Given the description of an element on the screen output the (x, y) to click on. 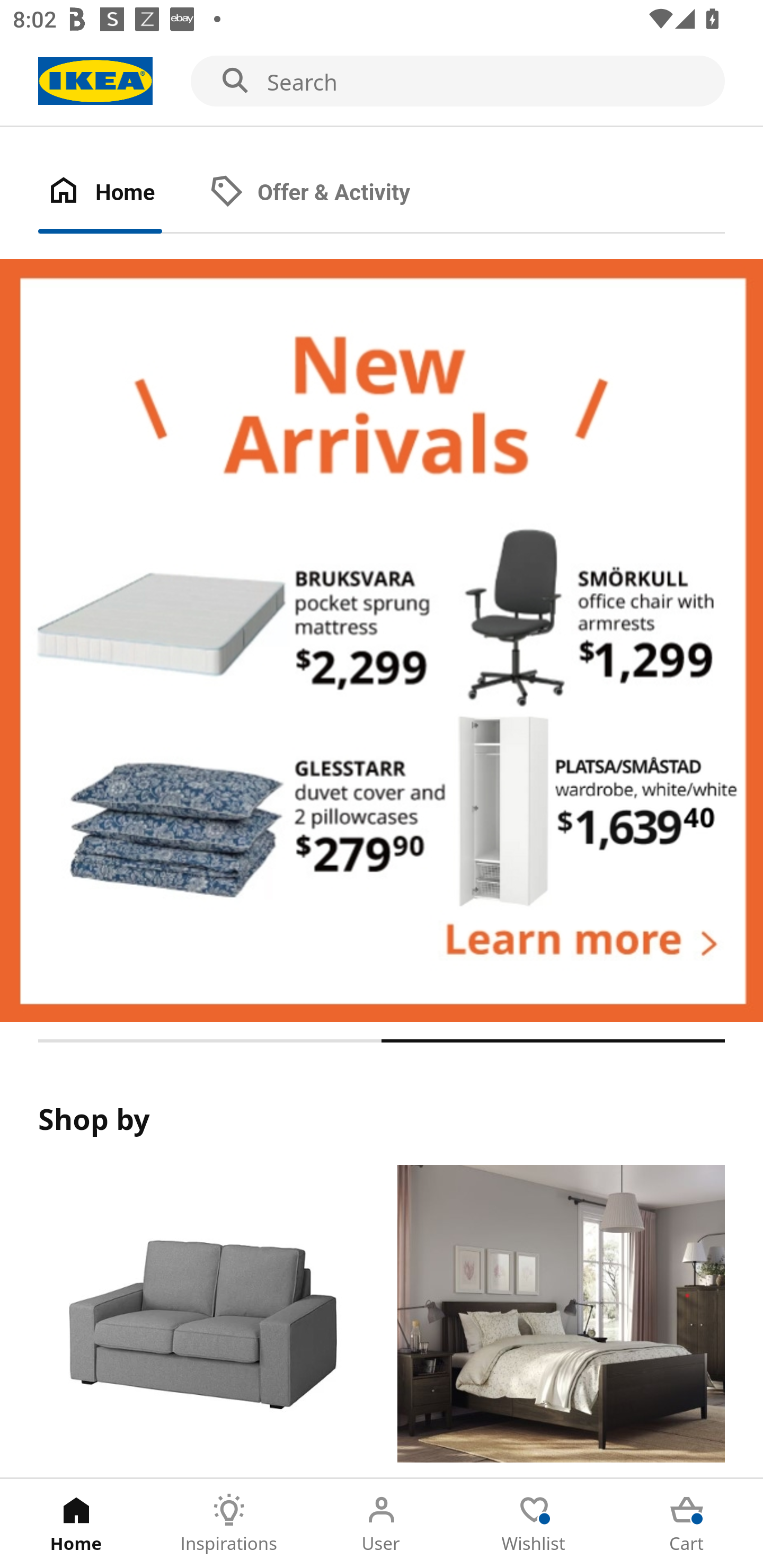
Search (381, 81)
Home
Tab 1 of 2 (118, 192)
Offer & Activity
Tab 2 of 2 (327, 192)
Products (201, 1321)
Rooms (560, 1321)
Home
Tab 1 of 5 (76, 1522)
Inspirations
Tab 2 of 5 (228, 1522)
User
Tab 3 of 5 (381, 1522)
Wishlist
Tab 4 of 5 (533, 1522)
Cart
Tab 5 of 5 (686, 1522)
